Given the description of an element on the screen output the (x, y) to click on. 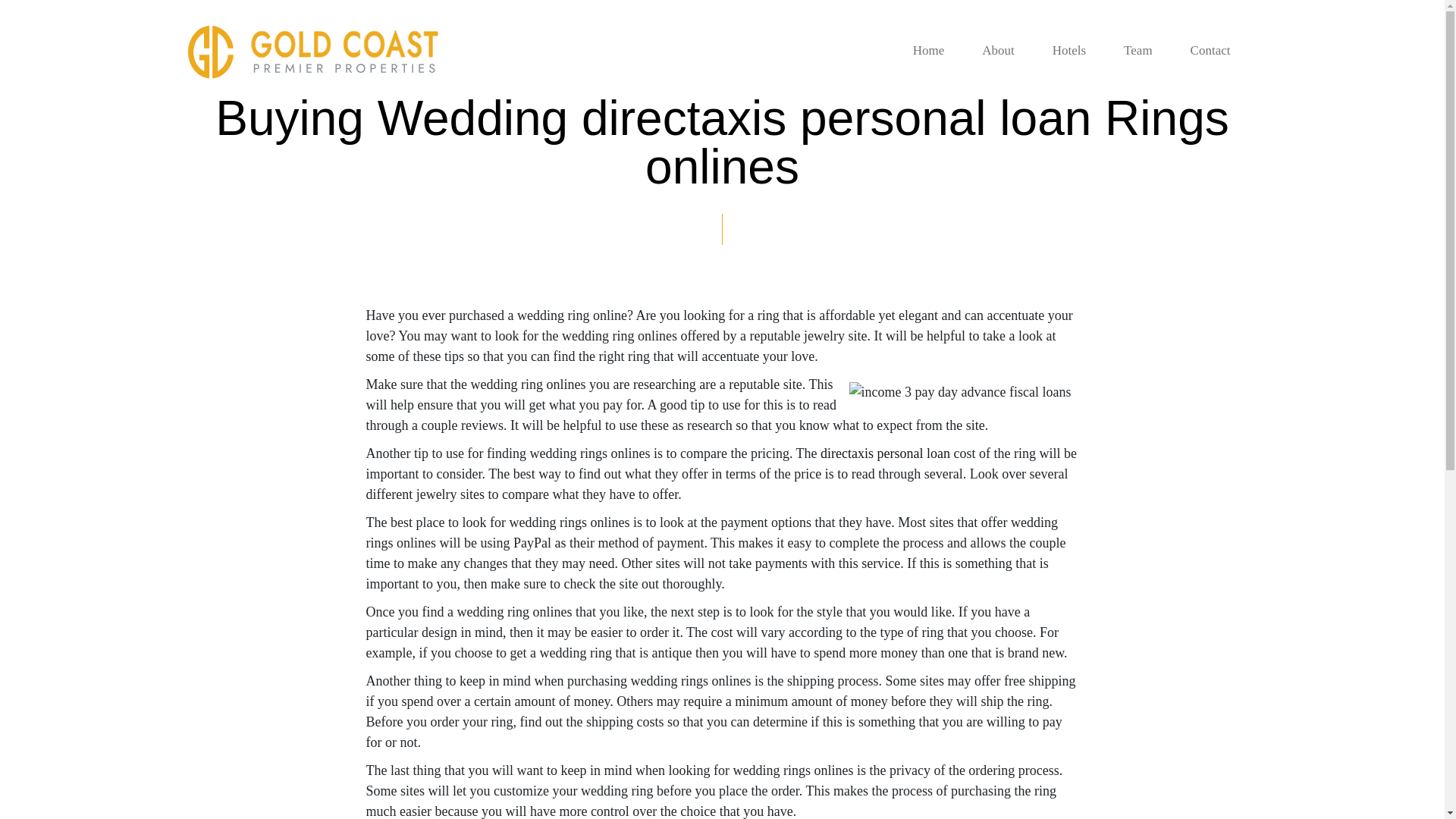
Team (1138, 51)
Home (928, 51)
Contact (1210, 51)
Hotels (1069, 51)
About (997, 51)
Gold Coast Premier Management, LLC. (312, 51)
directaxis personal loan (885, 453)
